Given the description of an element on the screen output the (x, y) to click on. 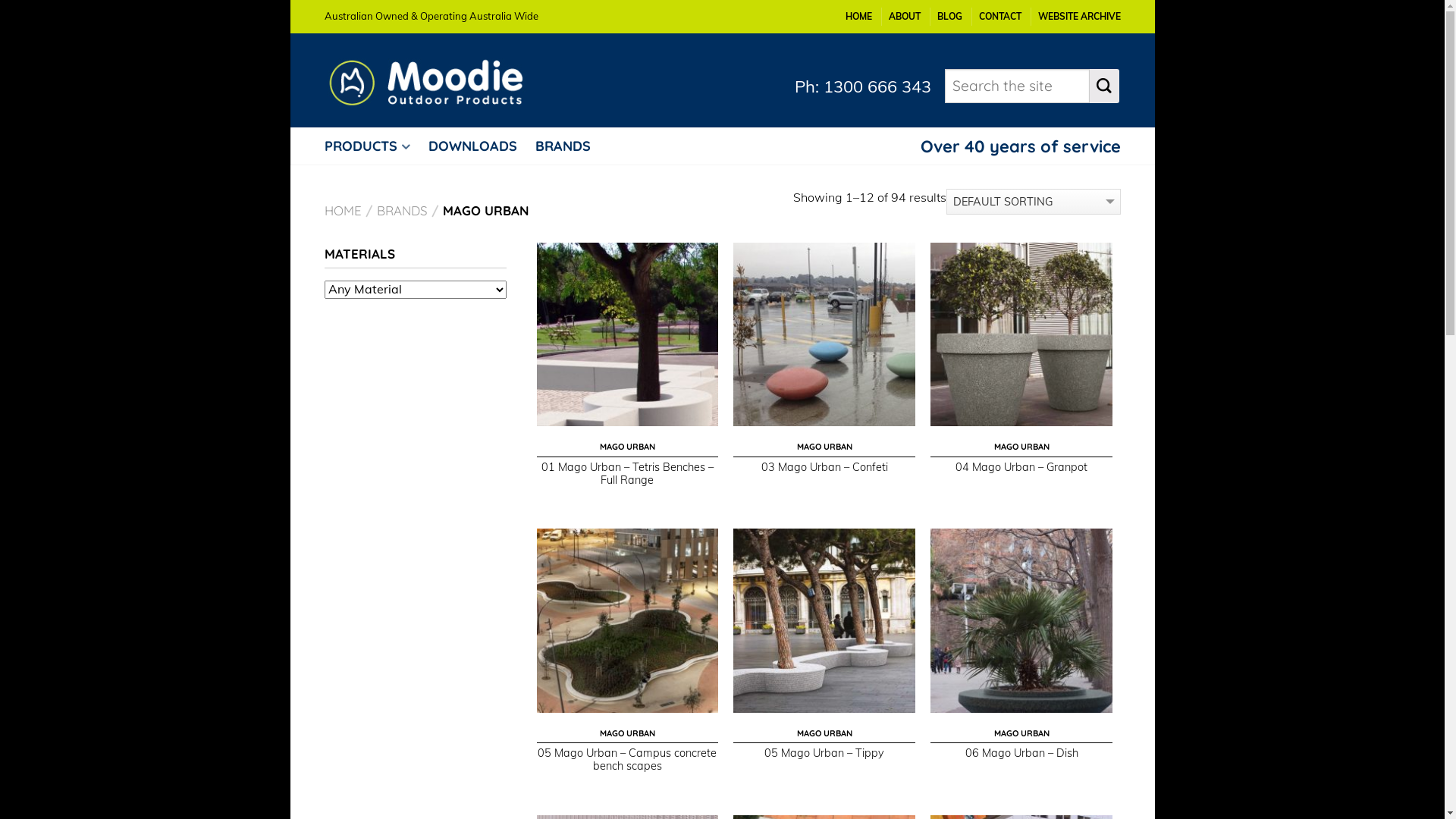
CONTACT Element type: text (999, 15)
HOME Element type: text (857, 15)
BRANDS Element type: text (401, 210)
ABOUT Element type: text (904, 15)
HOME Element type: text (342, 210)
PRODUCTS Element type: text (374, 145)
BRANDS Element type: text (570, 145)
DOWNLOADS Element type: text (479, 145)
BLOG Element type: text (949, 15)
Moodie Outdoor Products - Since 1979 Element type: hover (438, 78)
WEBSITE ARCHIVE Element type: text (1078, 15)
